Given the description of an element on the screen output the (x, y) to click on. 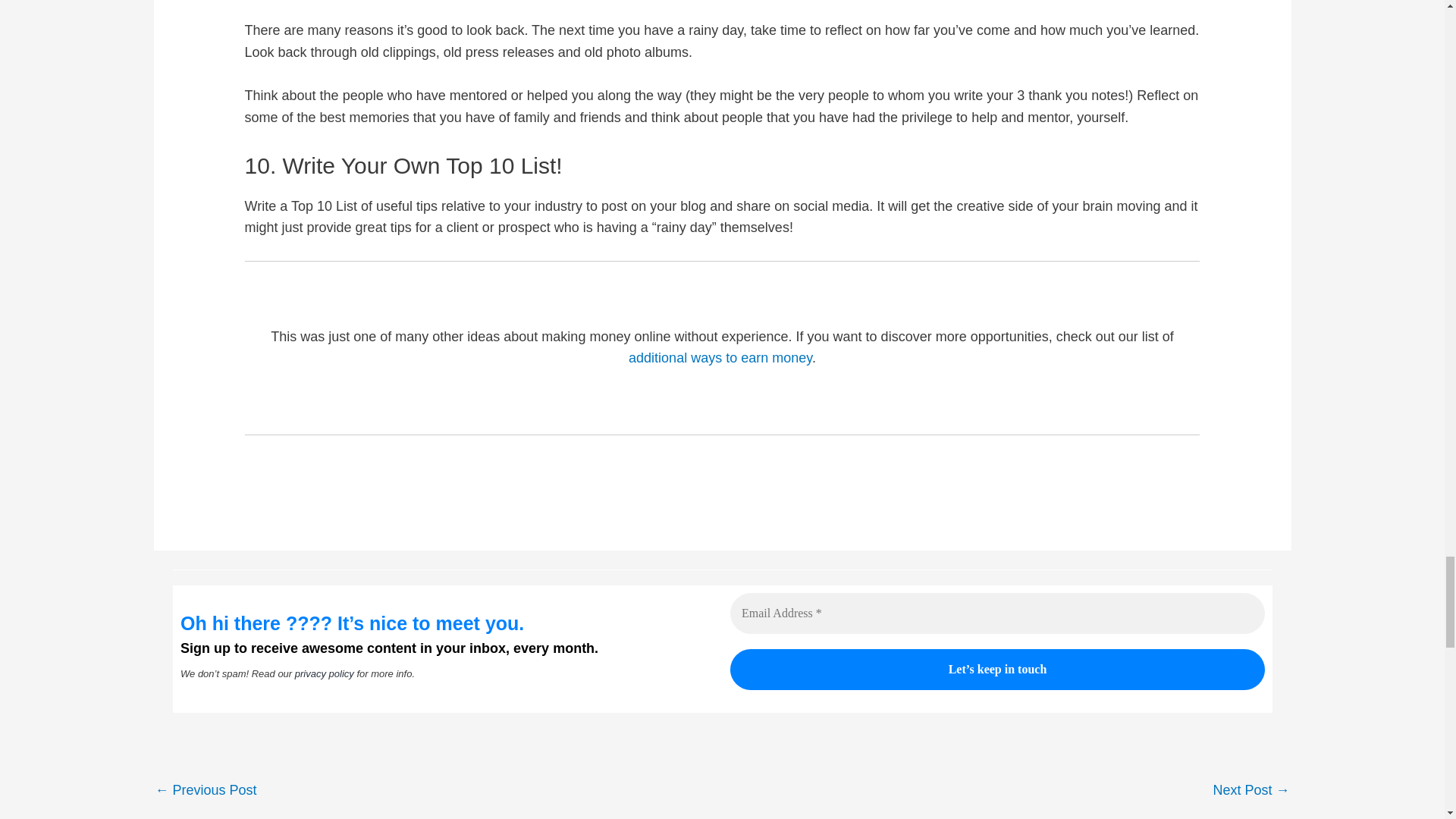
5 Ways To Accomplish Debt Relief Through Debt Consolidation (205, 791)
Your Business Struggling? Here are 6 Reasons Why (1250, 791)
Email Address (996, 612)
